Given the description of an element on the screen output the (x, y) to click on. 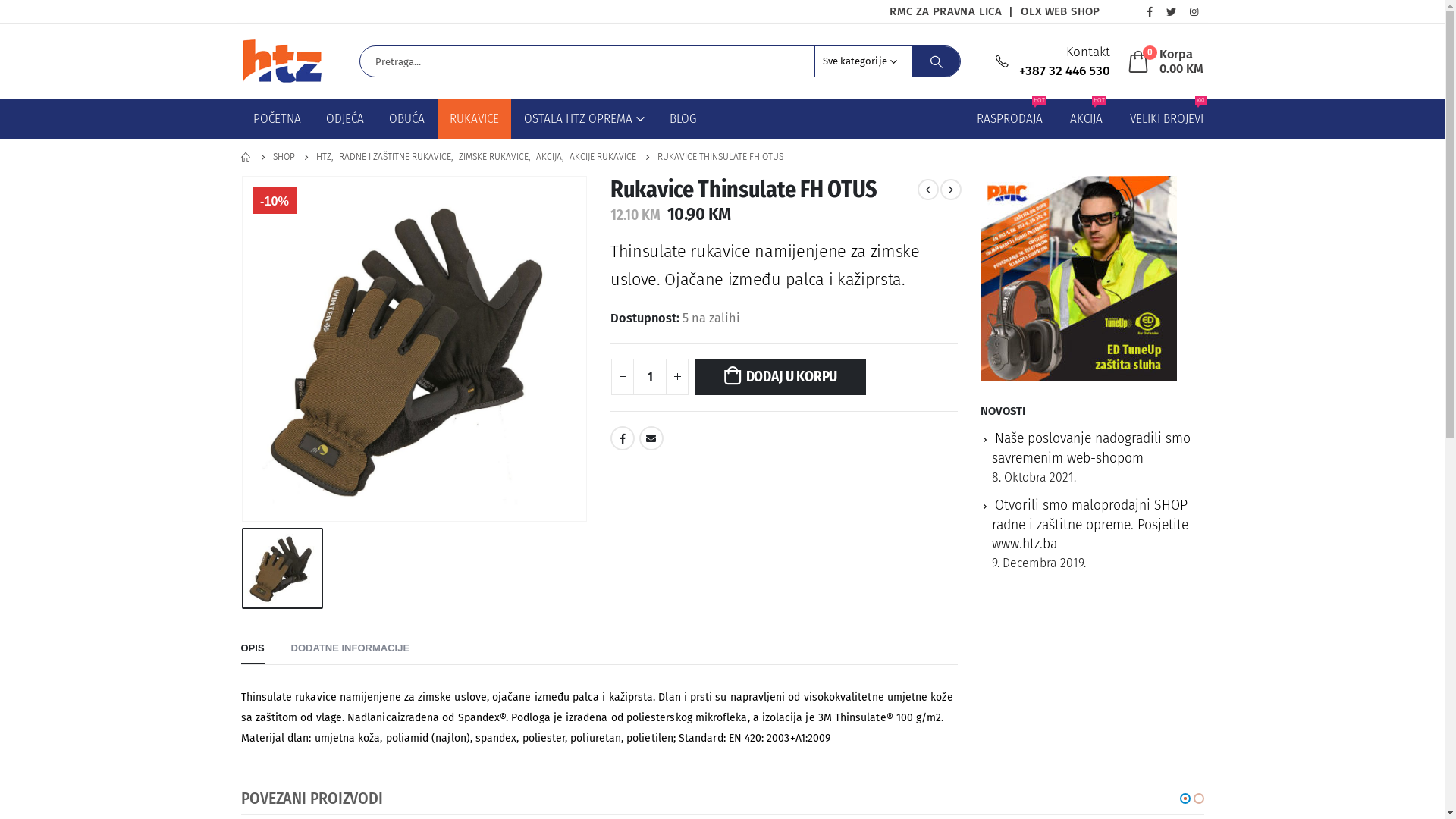
VELIKI BROJEVI
XXL Element type: text (1166, 118)
Facebook Element type: hover (1149, 11)
+ Element type: text (676, 376)
Pretraga Element type: hover (936, 61)
Rukavice Thinsulate FH OTUS_Osnovna fotografija Element type: hover (414, 348)
AKCIJA Element type: text (548, 156)
RUKAVICE Element type: text (473, 118)
Twitter Element type: hover (1171, 11)
AKCIJA
HOT Element type: text (1085, 118)
- Element type: text (622, 376)
Email Element type: text (651, 438)
AKCIJE RUKAVICE Element type: text (601, 156)
SHOP Element type: text (283, 156)
HTZ Element type: text (322, 156)
Facebook Element type: text (622, 438)
OLX WEB SHOP Element type: text (1059, 11)
RASPRODAJA
HOT Element type: text (1009, 118)
Instagram Element type: hover (1194, 11)
ZIMSKE RUKAVICE Element type: text (492, 156)
OSTALA HTZ OPREMA Element type: text (583, 118)
BLOG Element type: text (682, 118)
Go to Home Page Element type: hover (246, 156)
RMC ZA PRAVNA LICA Element type: text (945, 11)
DODAJ U KORPU Element type: text (780, 376)
